Given the description of an element on the screen output the (x, y) to click on. 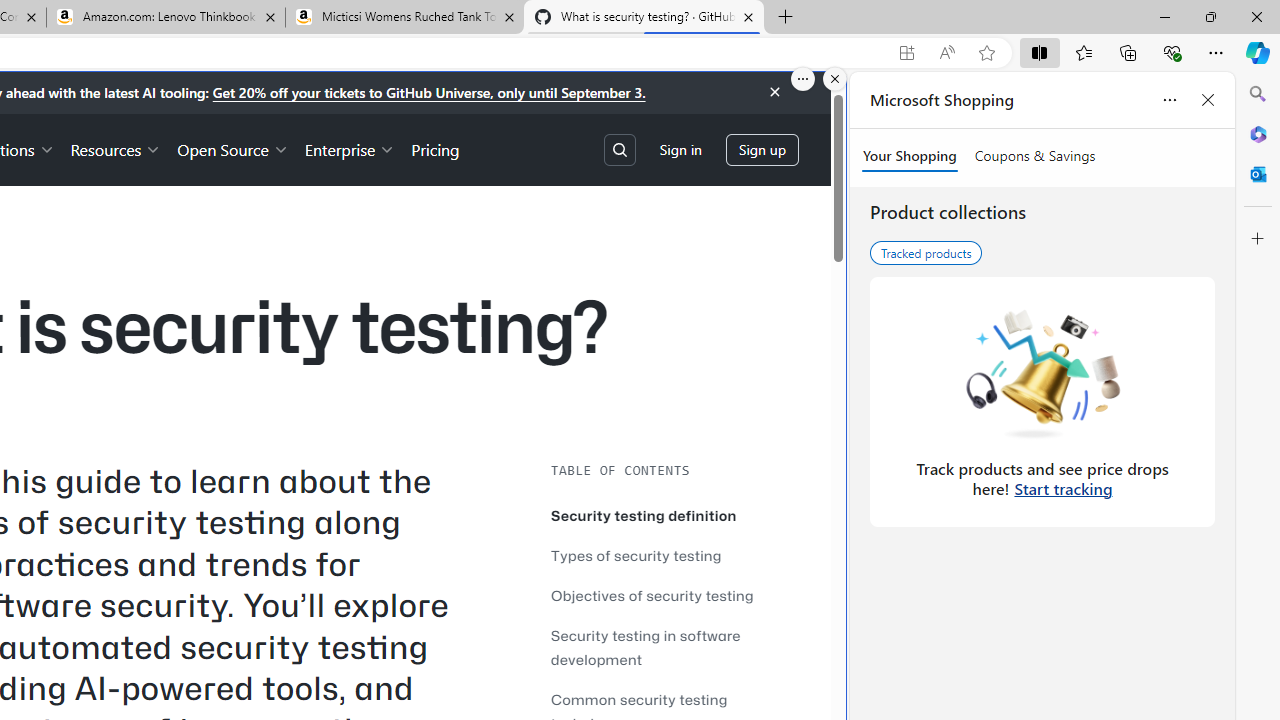
Types of security testing (635, 555)
Resources (115, 148)
Resources (115, 148)
Open Source (232, 148)
Pricing (435, 148)
Security testing in software development (645, 647)
